Given the description of an element on the screen output the (x, y) to click on. 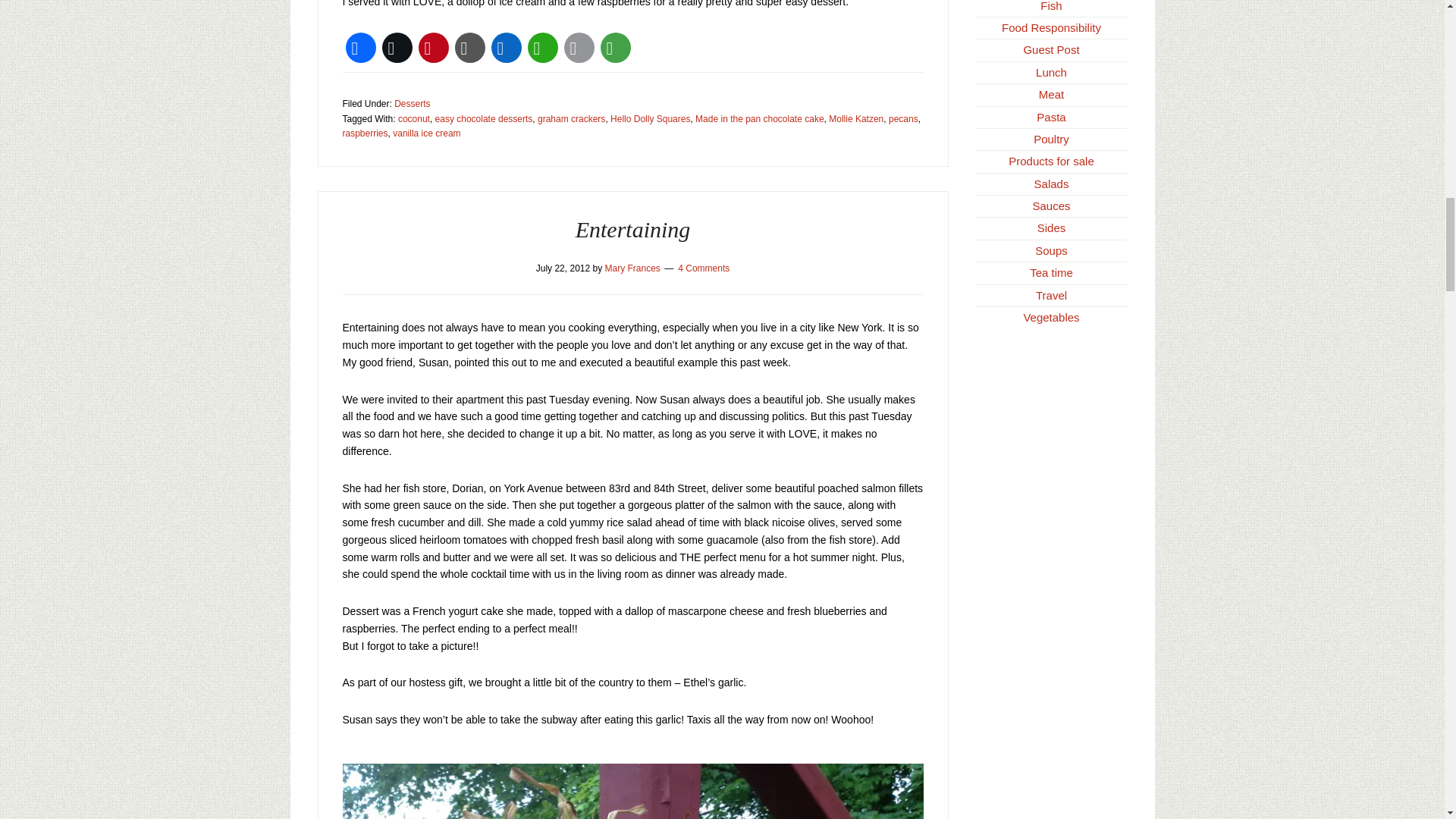
Mary Frances (633, 267)
Hello Dolly Squares (650, 118)
Pinterest (432, 47)
Email This (578, 47)
raspberries (365, 132)
Entertaining (632, 229)
Made in the pan chocolate cake (759, 118)
coconut (413, 118)
Desserts (411, 103)
Copy Link (469, 47)
vanilla ice cream (426, 132)
Garlic bunch (632, 791)
LinkedIn (505, 47)
WhatsApp (542, 47)
Facebook (360, 47)
